Given the description of an element on the screen output the (x, y) to click on. 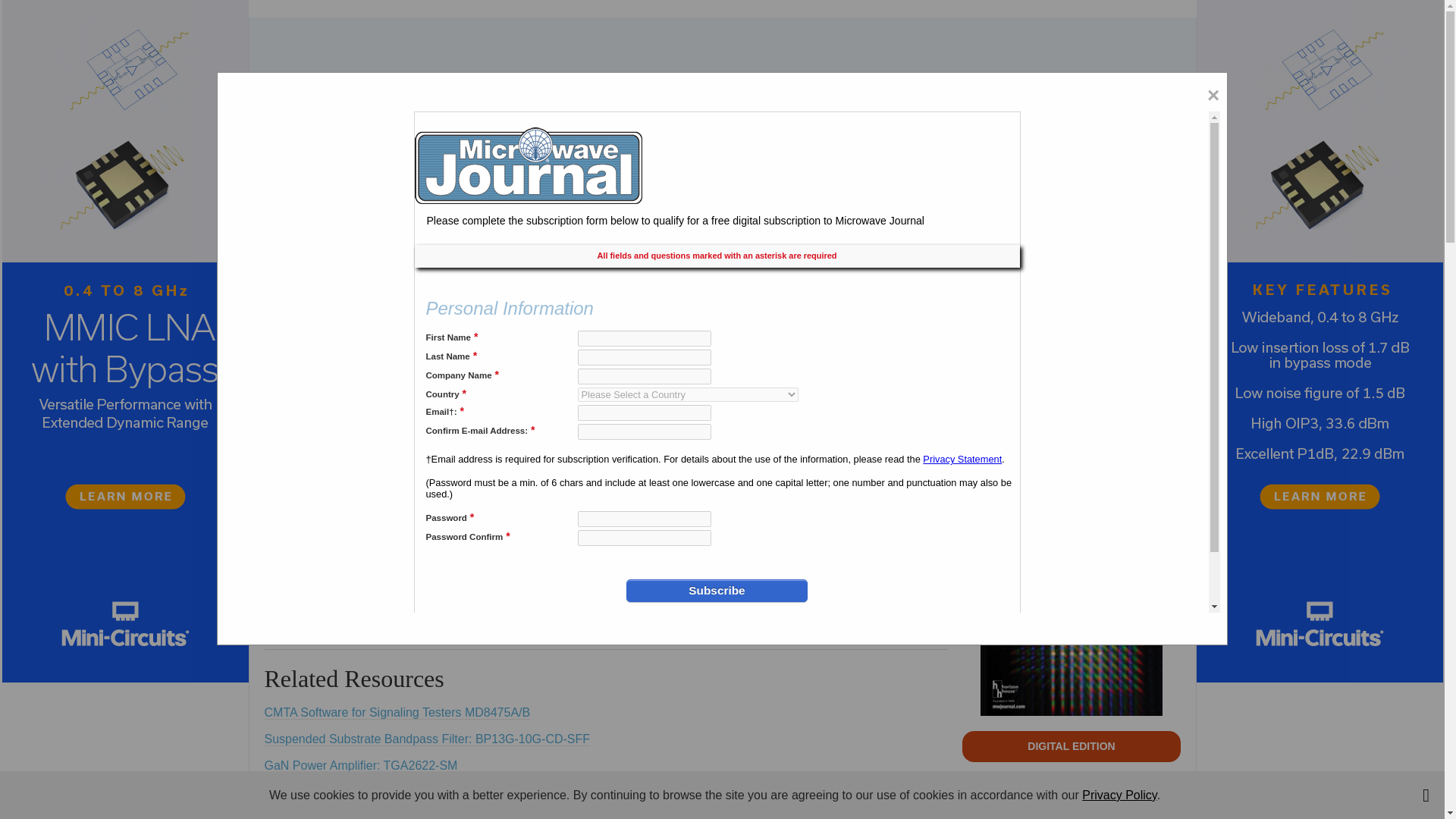
3rd party ad content (721, 66)
